Given the description of an element on the screen output the (x, y) to click on. 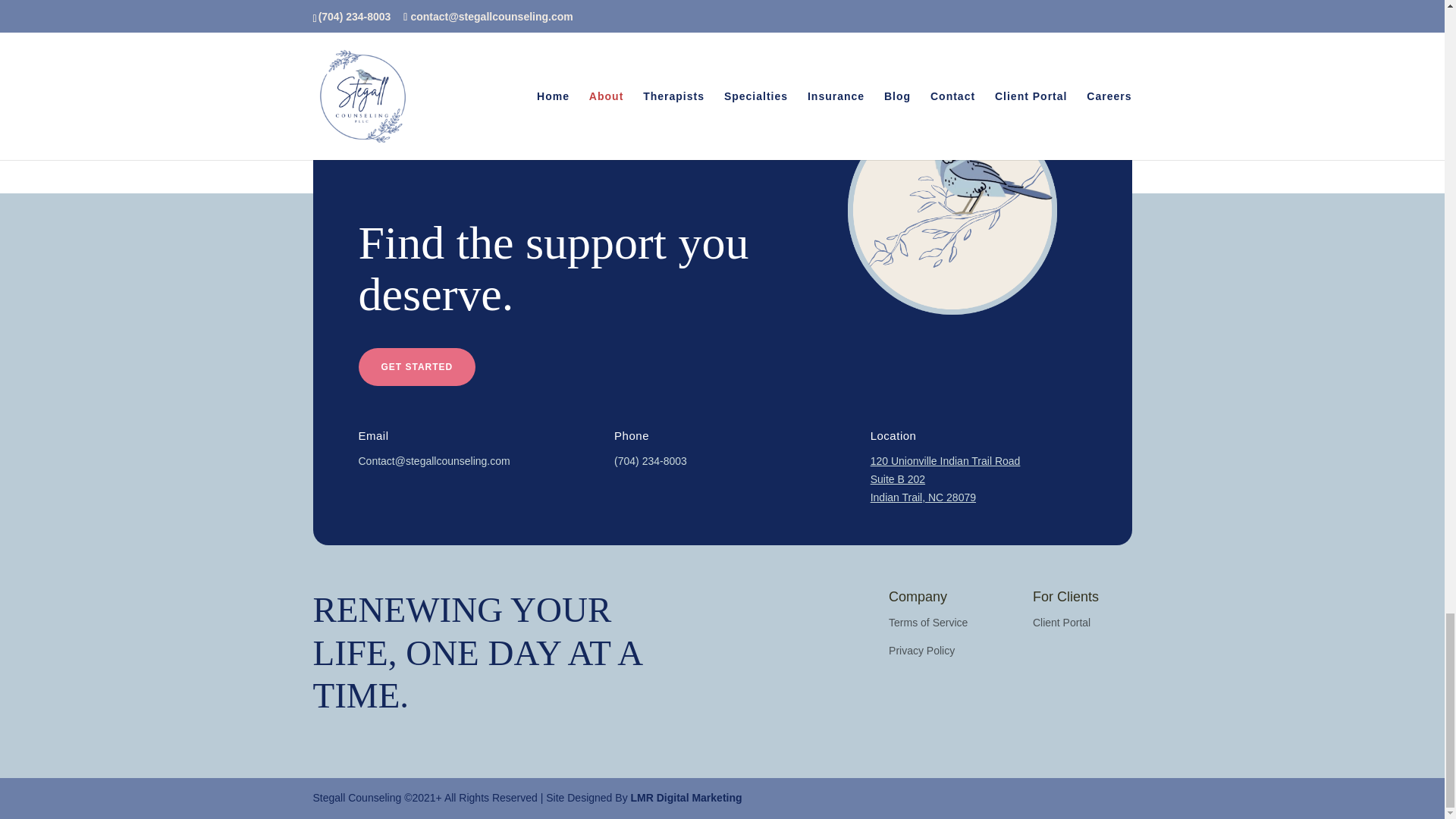
Privacy Policy (921, 650)
Client Portal (1061, 622)
8 (357, 53)
Suite B 202 (897, 479)
Stegall Counseling PLLC New Logo.pdf (952, 209)
GET STARTED (417, 366)
120 Unionville Indian Trail Road (945, 460)
LMR Digital Marketing (686, 797)
Terms of Service (928, 622)
Indian Trail, NC 28079 (922, 497)
